Given the description of an element on the screen output the (x, y) to click on. 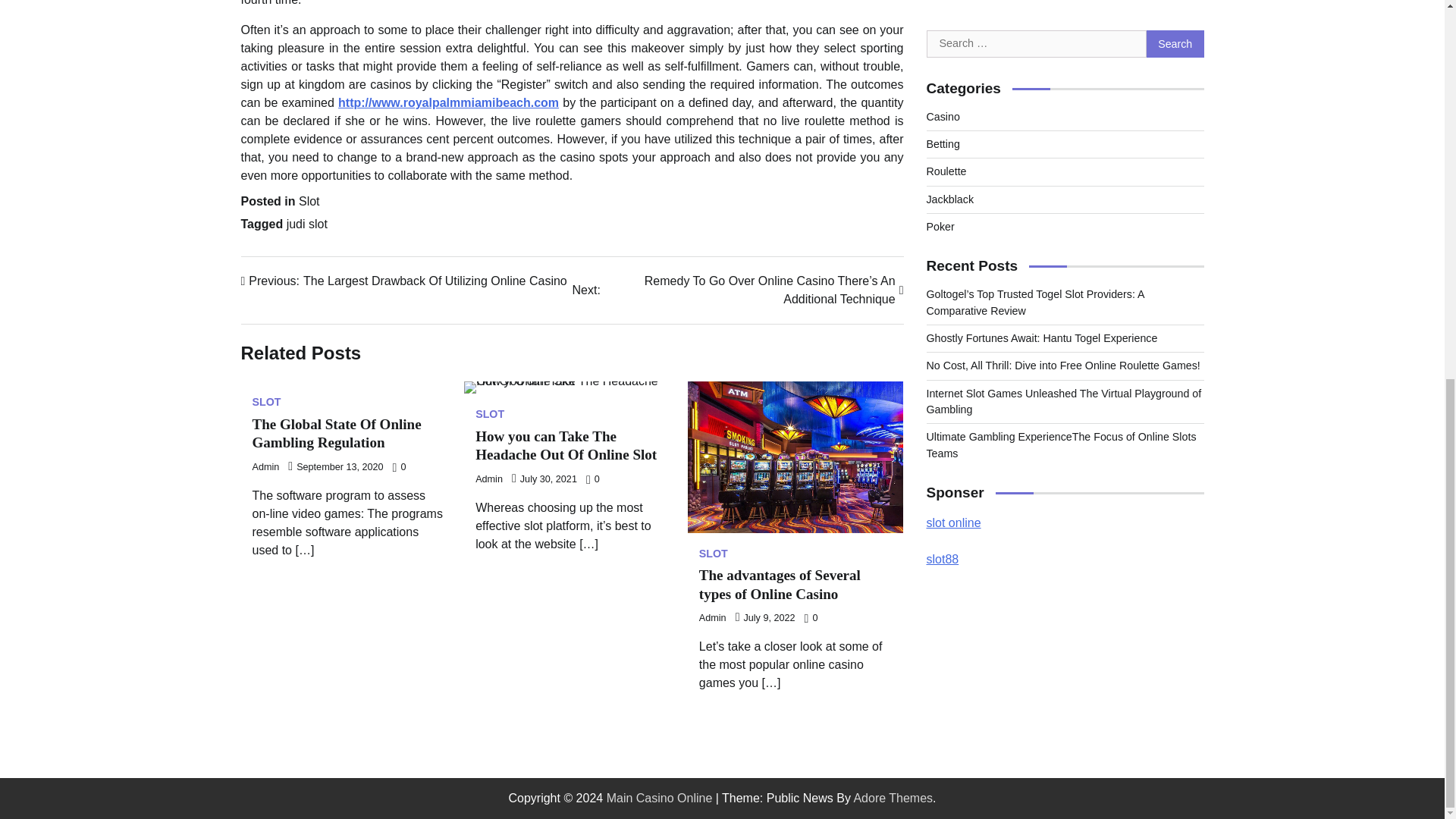
Slot (309, 201)
The Global State Of Online Gambling Regulation (335, 433)
SLOT (489, 413)
judi slot (306, 223)
The advantages of Several types of Online Casino (779, 584)
slot88 (942, 91)
Main Casino Online (660, 797)
Admin (712, 617)
Admin (489, 479)
How you can Take The Headache Out Of Online Slot (566, 445)
